Given the description of an element on the screen output the (x, y) to click on. 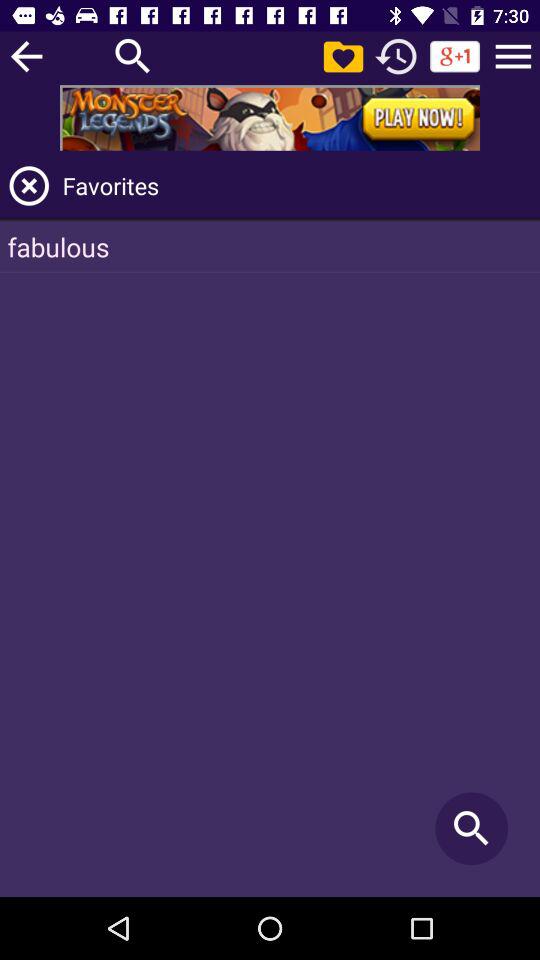
turn off item above the favorites icon (513, 56)
